Given the description of an element on the screen output the (x, y) to click on. 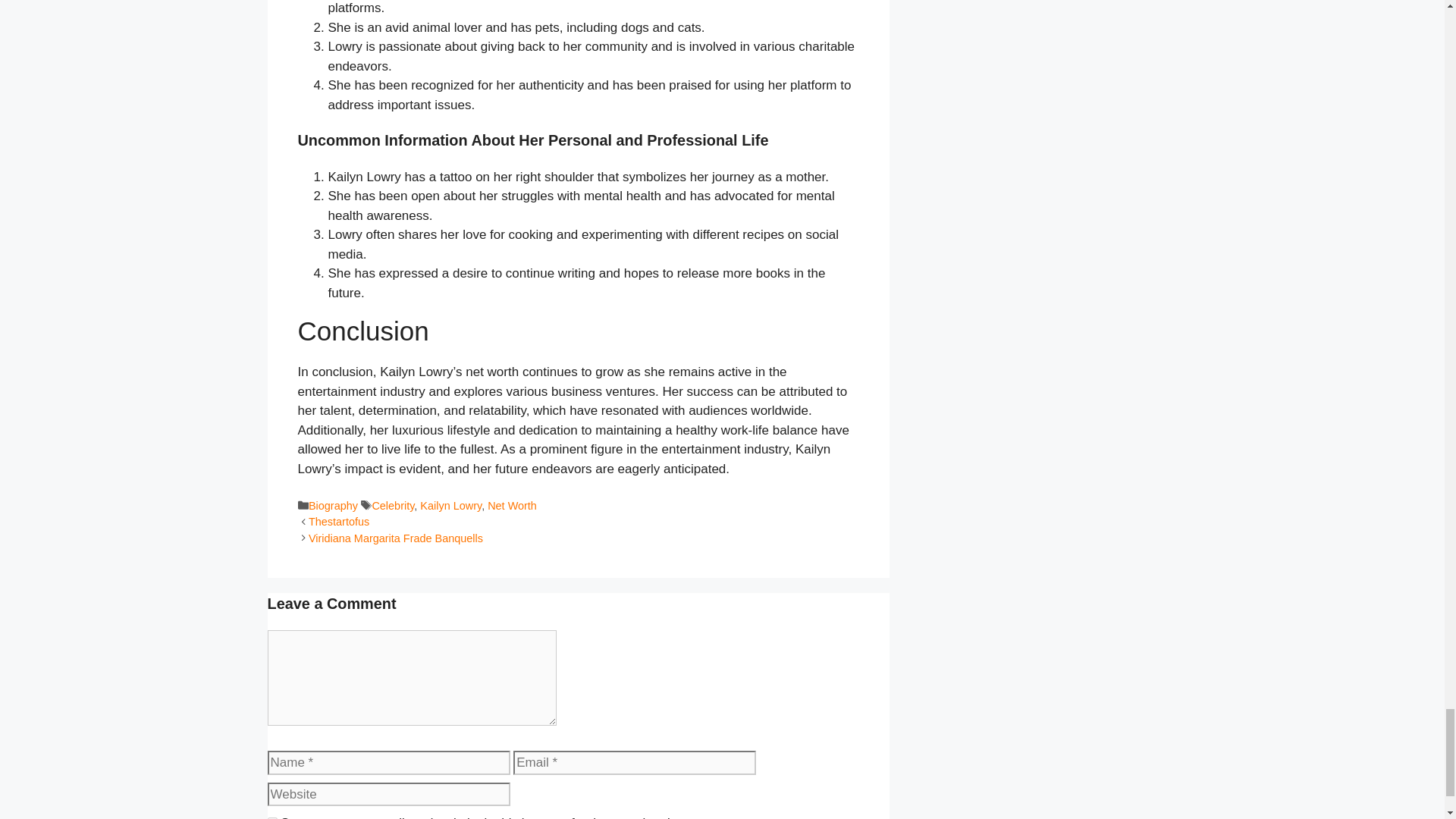
Kailyn Lowry (450, 505)
Net Worth (512, 505)
Biography (333, 505)
Celebrity (392, 505)
Thestartofus (338, 521)
Viridiana Margarita Frade Banquells (395, 538)
